Given the description of an element on the screen output the (x, y) to click on. 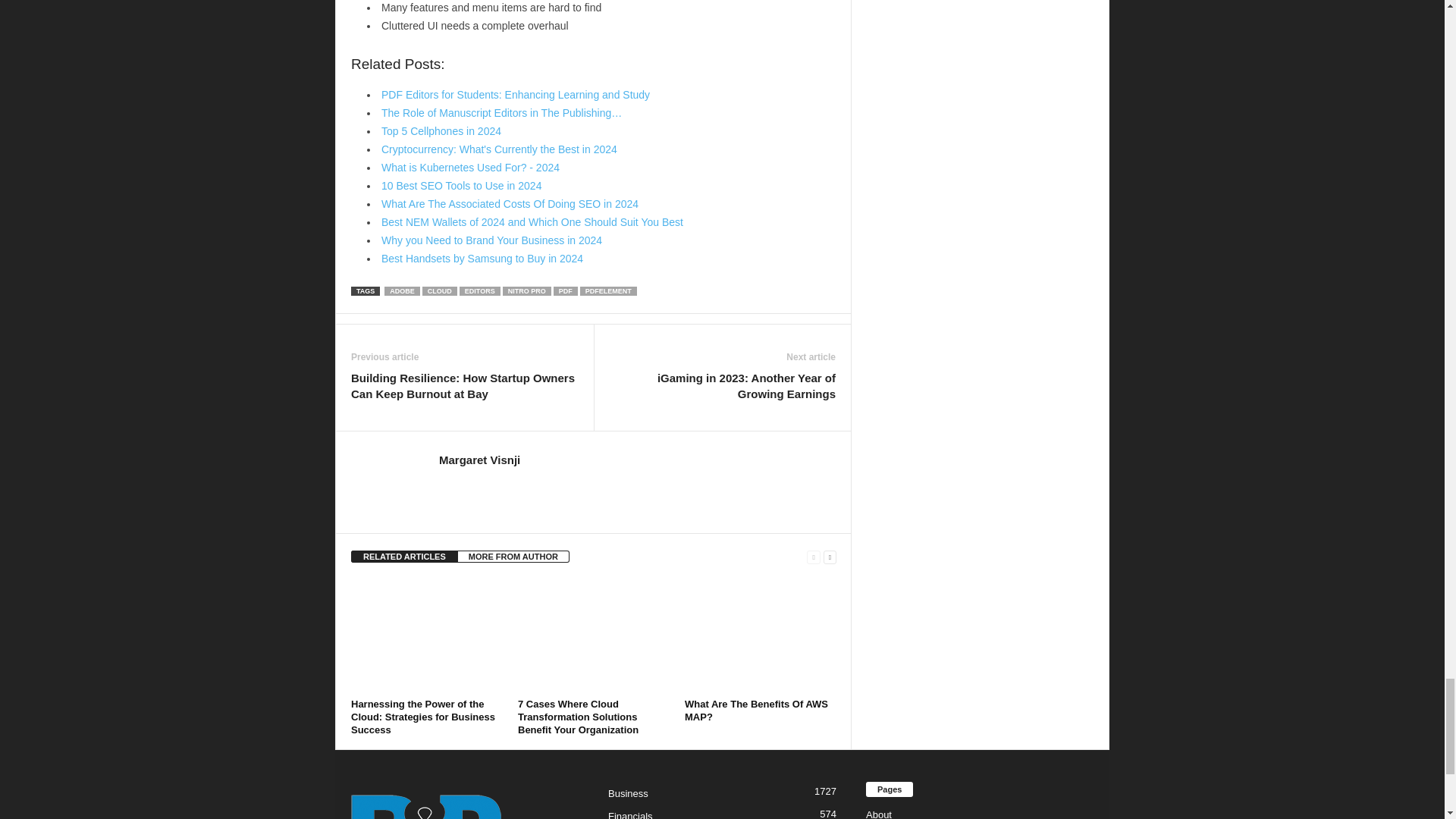
What Are The Benefits Of AWS MAP? (759, 635)
Cryptocurrency: What's Currently the Best in 2024 (499, 149)
PDF Editors for Students: Enhancing Learning and Study (515, 94)
Top 5 Cellphones in 2024 (440, 131)
